Given the description of an element on the screen output the (x, y) to click on. 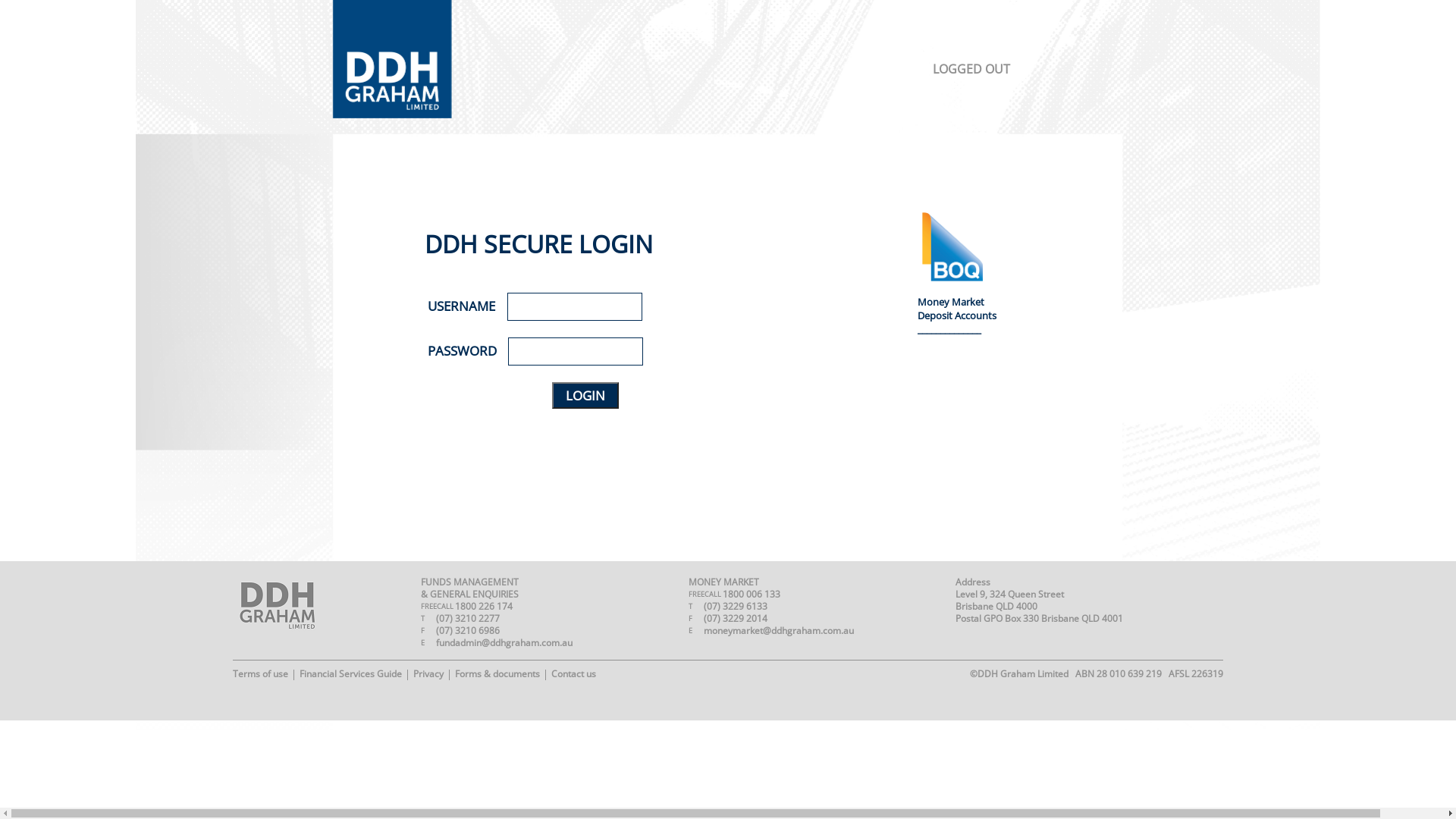
Contact us Element type: text (573, 673)
LOGIN Element type: text (585, 395)
Financial Services Guide Element type: text (350, 673)
(07) 3210 6986 Element type: text (467, 630)
Forms & documents Element type: text (497, 673)
Terms of use Element type: text (260, 673)
moneymarket@ddhgraham.com.au Element type: text (778, 630)
1800 226 174 Element type: text (483, 606)
Privacy Element type: text (428, 673)
(07) 3229 2014 Element type: text (735, 618)
(07) 3229 6133 Element type: text (735, 606)
(07) 3210 2277 Element type: text (467, 618)
fundadmin@ddhgraham.com.au Element type: text (504, 642)
1800 006 133 Element type: text (751, 594)
